Given the description of an element on the screen output the (x, y) to click on. 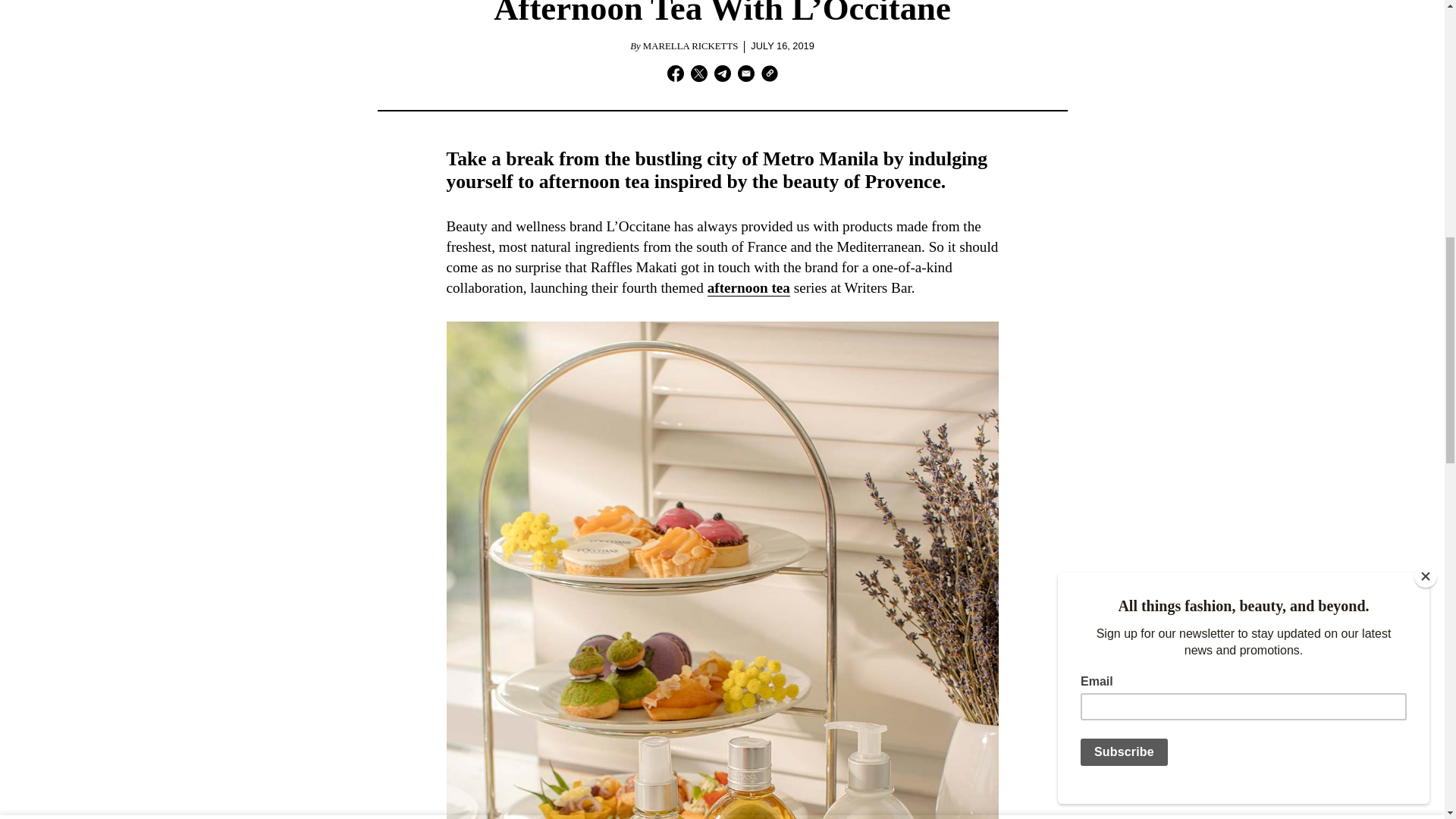
X (698, 75)
Telegram (722, 75)
Email (745, 75)
Copy Link (769, 75)
By MARELLA RICKETTS (684, 46)
Facebook (675, 75)
afternoon tea (748, 288)
